Given the description of an element on the screen output the (x, y) to click on. 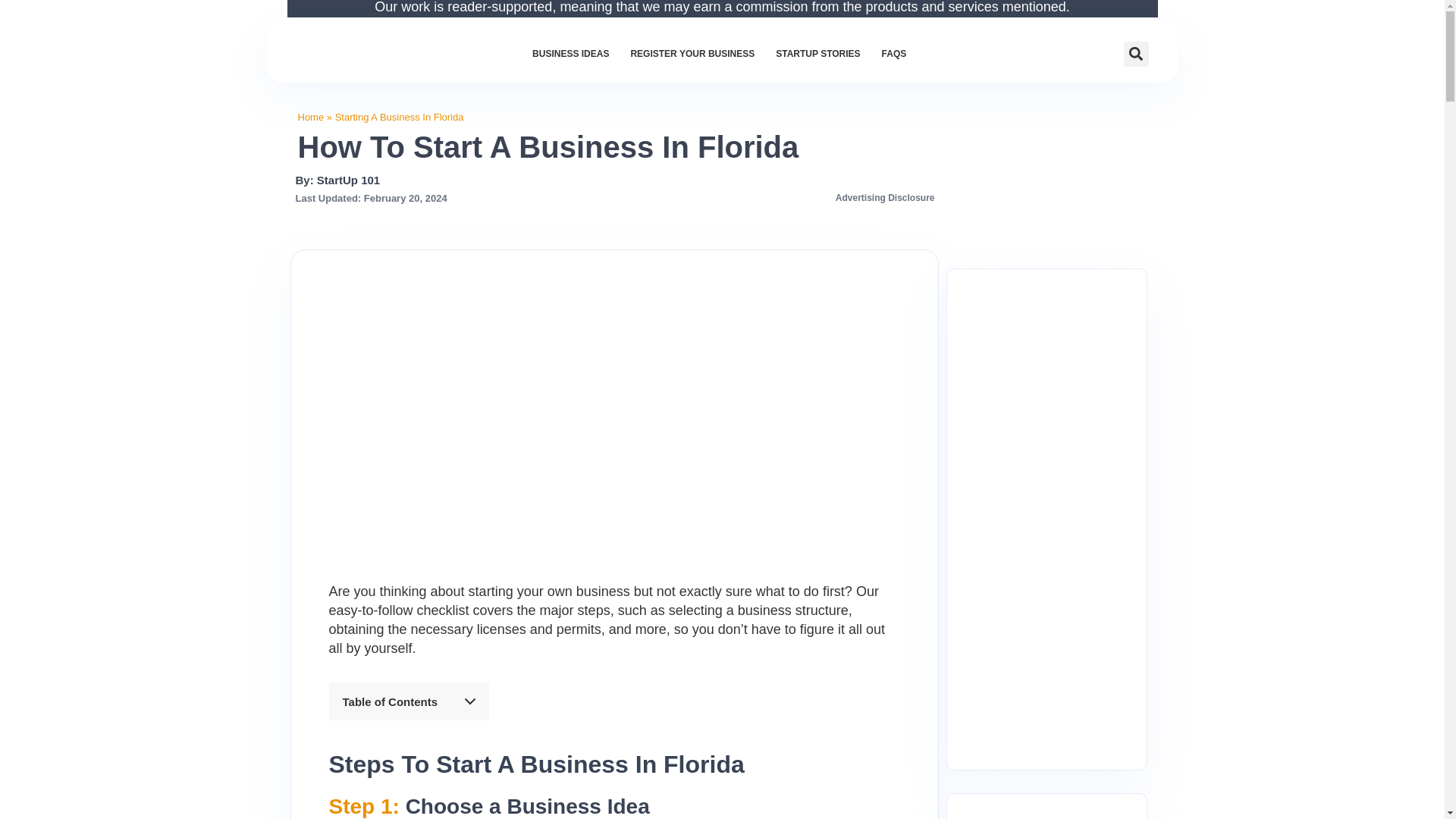
BUSINESS IDEAS (570, 53)
Starting A Business In Florida (399, 116)
By: StartUp 101 (337, 180)
Home (310, 116)
FAQS (893, 53)
STARTUP STORIES (817, 53)
REGISTER YOUR BUSINESS (692, 53)
